Given the description of an element on the screen output the (x, y) to click on. 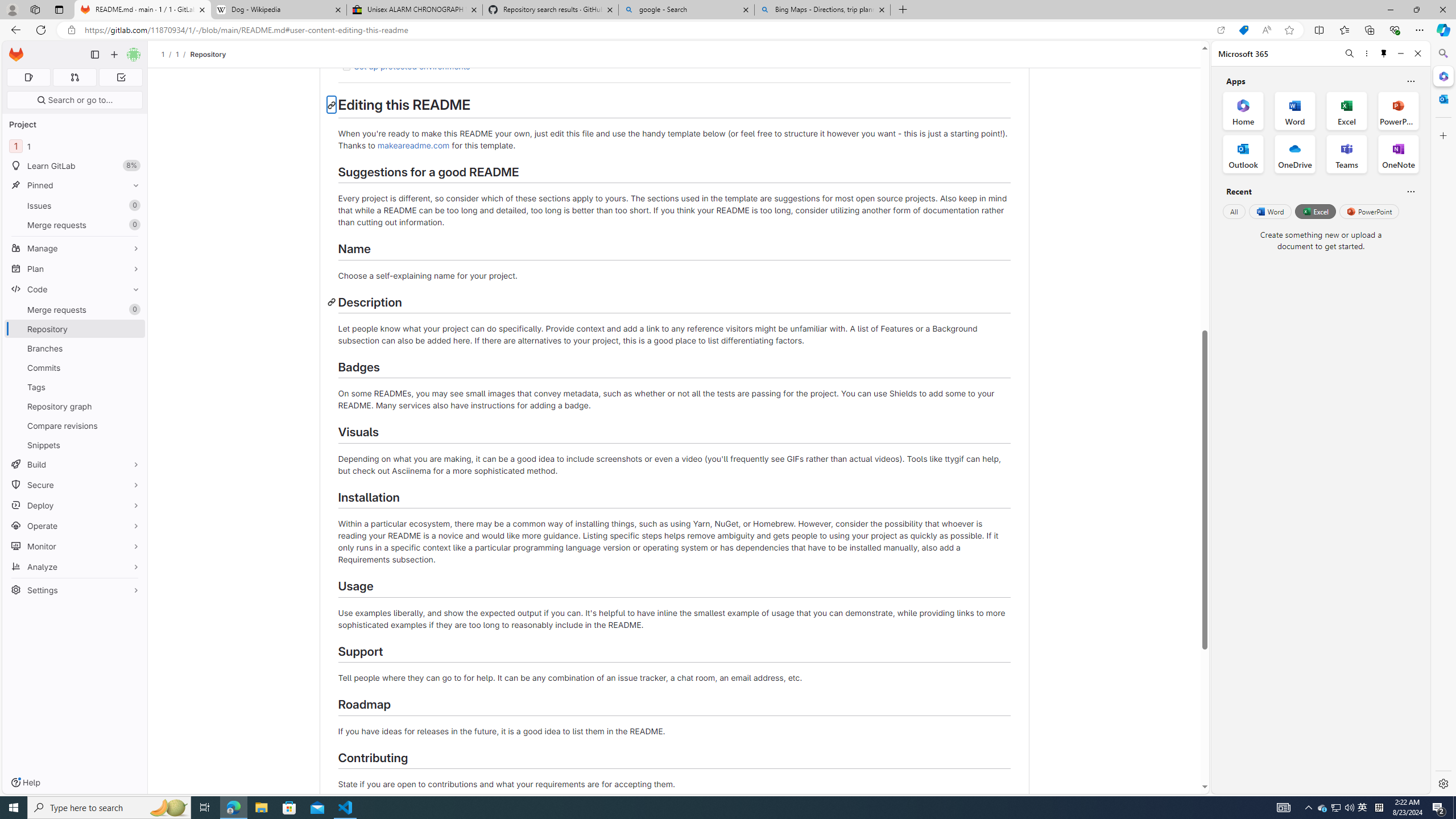
Build (74, 464)
Pin Compare revisions (132, 425)
1/ (183, 53)
Assigned issues 0 (28, 76)
Tags (74, 386)
Is this helpful? (1410, 191)
Issues0 (74, 205)
Open in app (1220, 29)
Repository graph (74, 406)
